Given the description of an element on the screen output the (x, y) to click on. 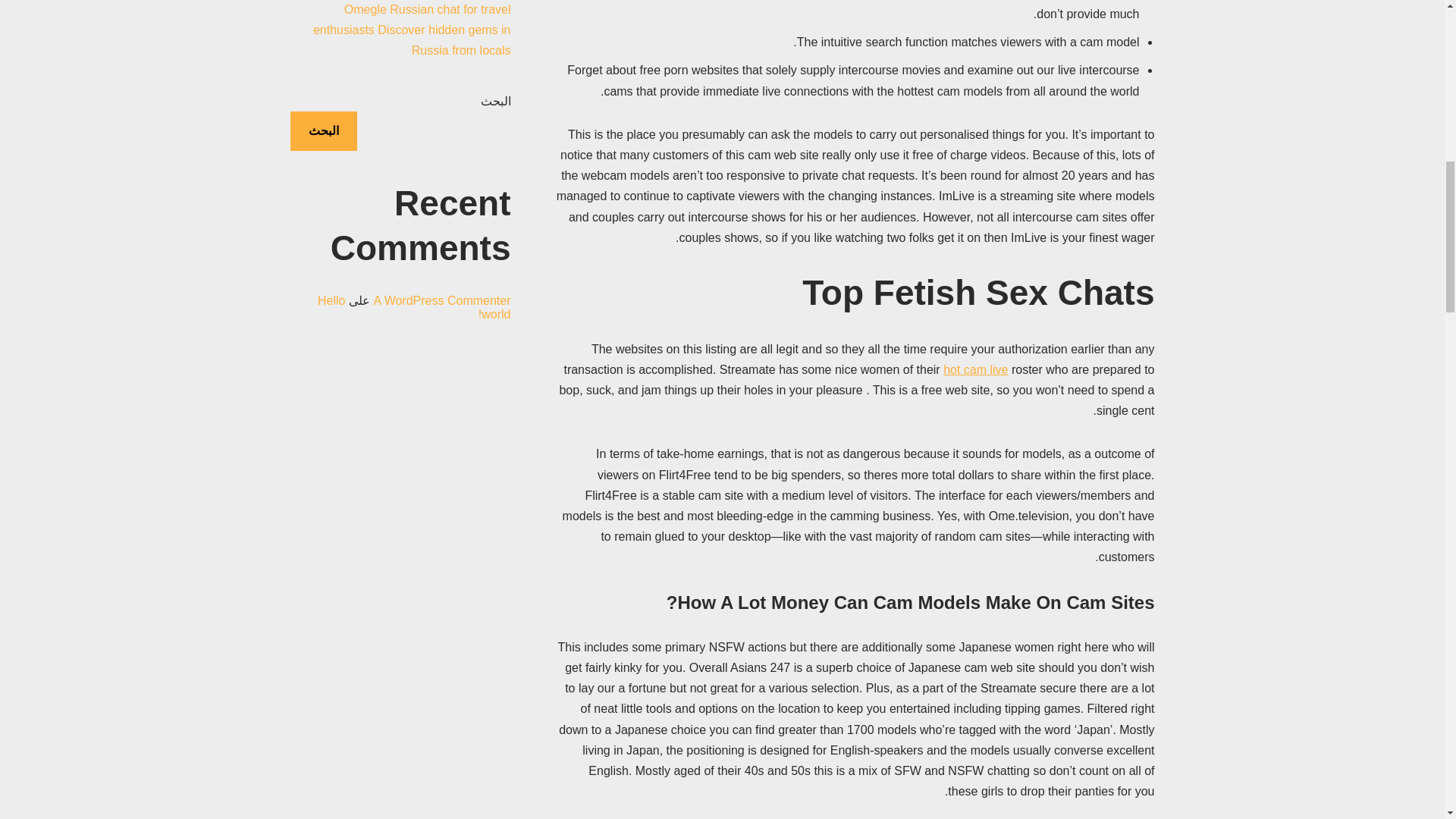
A WordPress Commenter (441, 320)
hot cam live (975, 369)
Hello world! (414, 327)
